Given the description of an element on the screen output the (x, y) to click on. 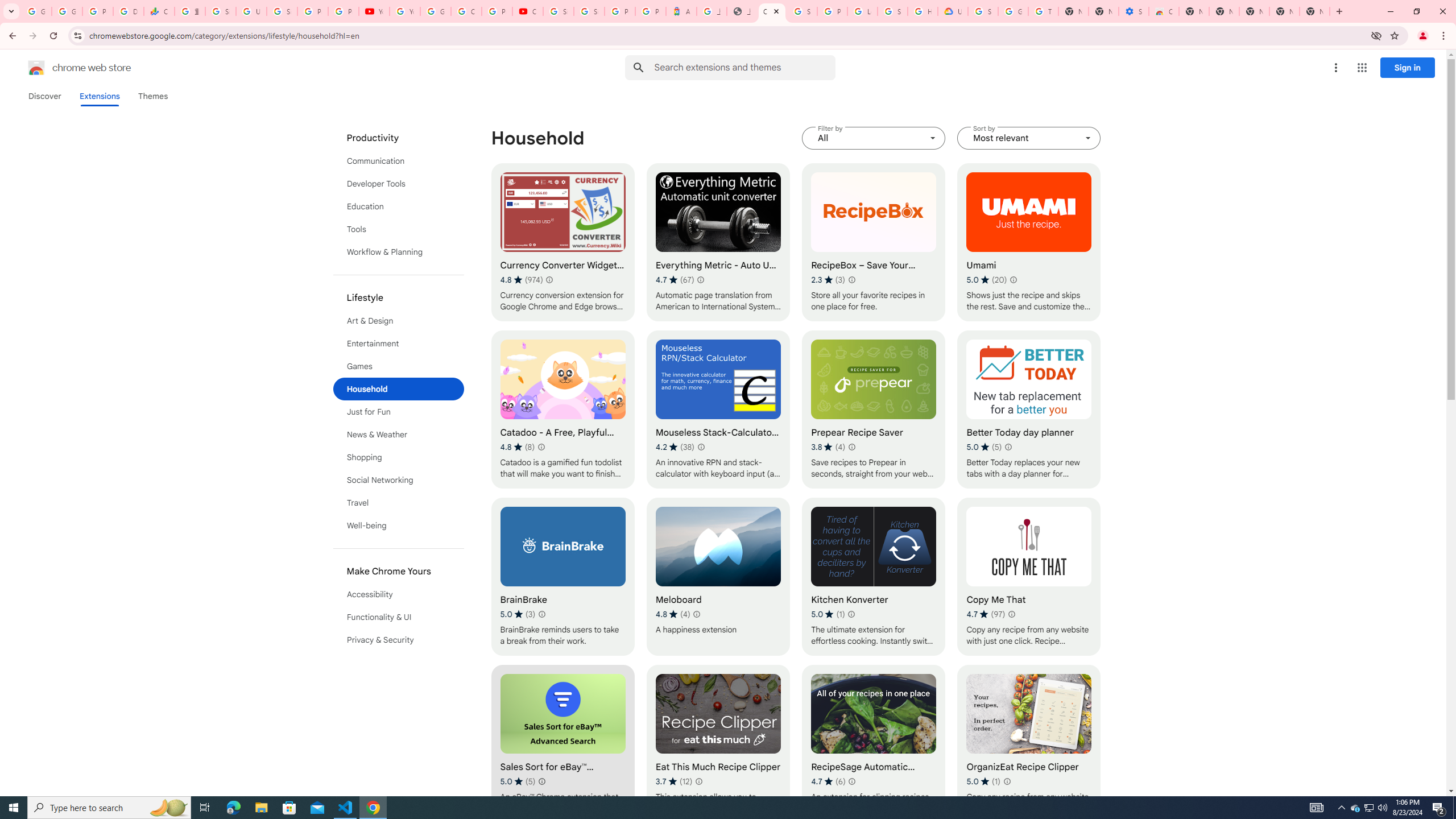
Well-being (398, 525)
List of categories in Chrome Web Store. (398, 388)
Average rating 3.7 out of 5 stars. 12 ratings. (674, 781)
Settings - Accessibility (1133, 11)
Filter by All (874, 137)
Google Account Help (434, 11)
Games (398, 365)
